Given the description of an element on the screen output the (x, y) to click on. 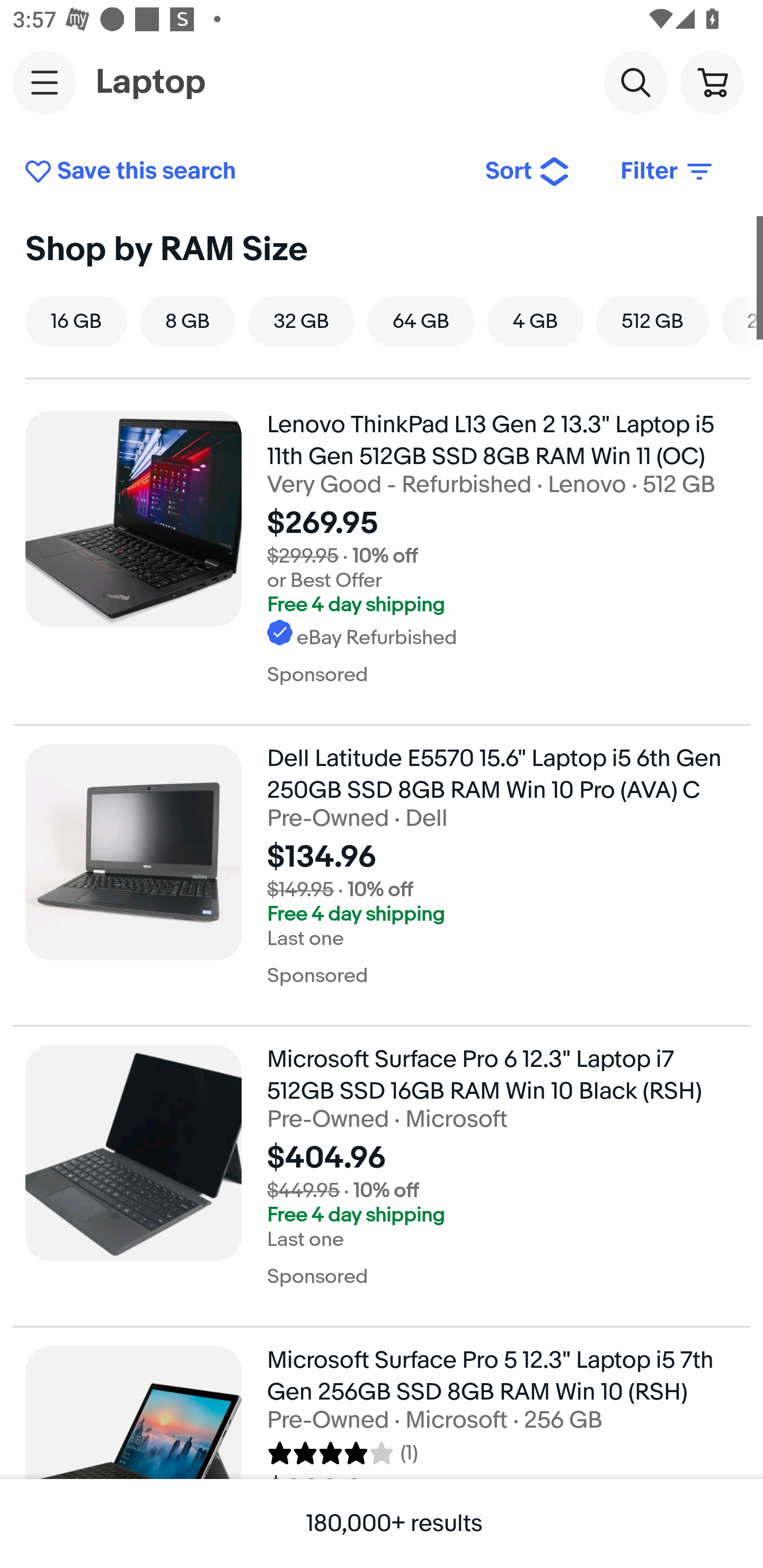
Main navigation, open (44, 82)
Search (635, 81)
Cart button shopping cart (711, 81)
Save this search (241, 171)
Sort (527, 171)
Filter (667, 171)
16 GB 16 GB, RAM Size (76, 321)
8 GB 8 GB, RAM Size (187, 321)
32 GB 32 GB, RAM Size (300, 321)
64 GB 64 GB, RAM Size (420, 321)
4 GB 4 GB, RAM Size (535, 321)
512 GB 512 GB, RAM Size (651, 321)
